Given the description of an element on the screen output the (x, y) to click on. 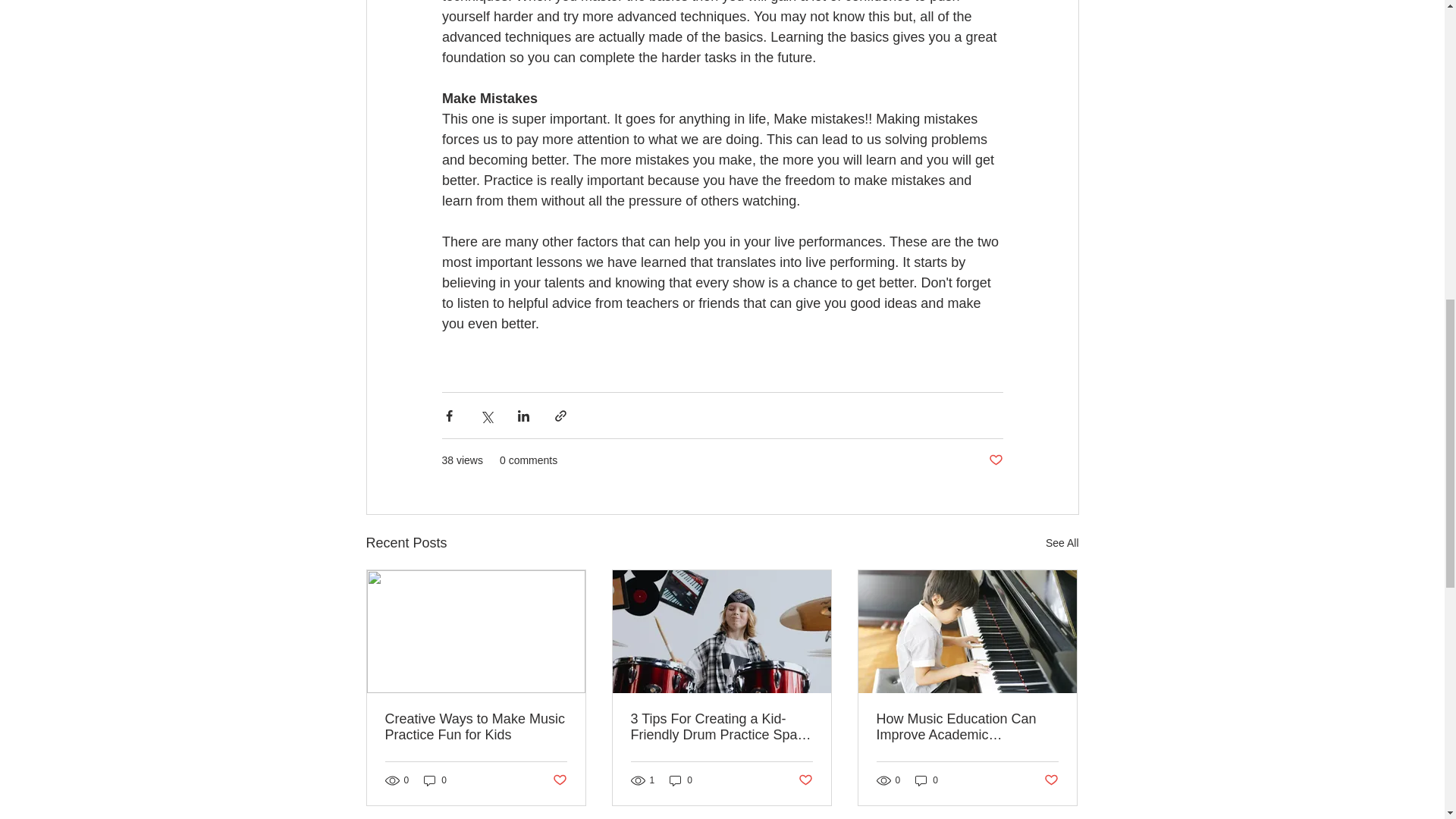
0 (926, 780)
Post not marked as liked (804, 780)
How Music Education Can Improve Academic Performance (967, 726)
0 (681, 780)
Post not marked as liked (995, 460)
Post not marked as liked (558, 780)
Creative Ways to Make Music Practice Fun for Kids (476, 726)
0 (435, 780)
Post not marked as liked (1050, 780)
See All (1061, 543)
